Given the description of an element on the screen output the (x, y) to click on. 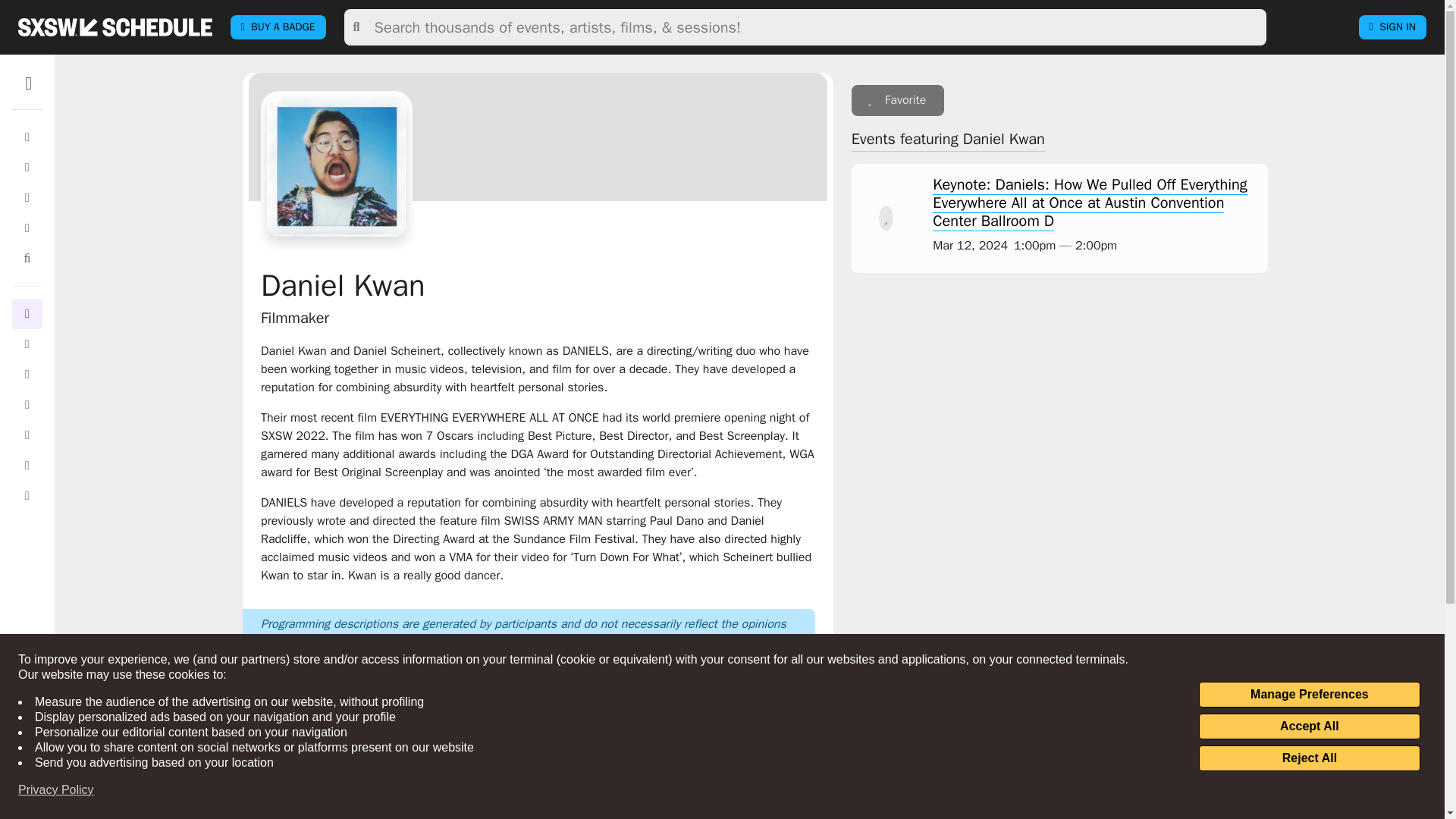
Accept All (1309, 726)
BUY A BADGE (278, 27)
sxsw SCHEDULE (114, 27)
Manage Preferences (1309, 694)
SIGN IN (1392, 27)
Privacy Policy (55, 789)
Sign In to add to your favorites. (897, 100)
Reject All (1309, 758)
